Given the description of an element on the screen output the (x, y) to click on. 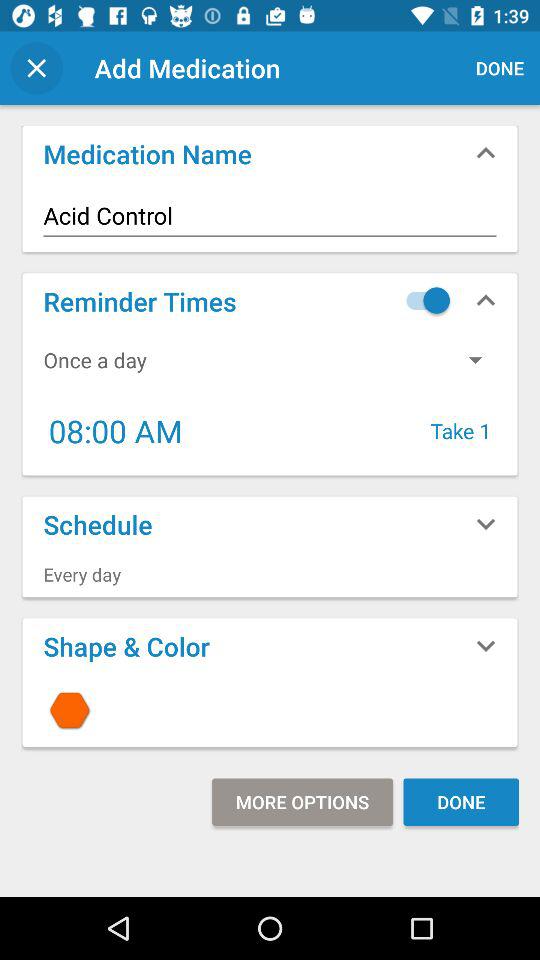
swipe to every day item (269, 574)
